Given the description of an element on the screen output the (x, y) to click on. 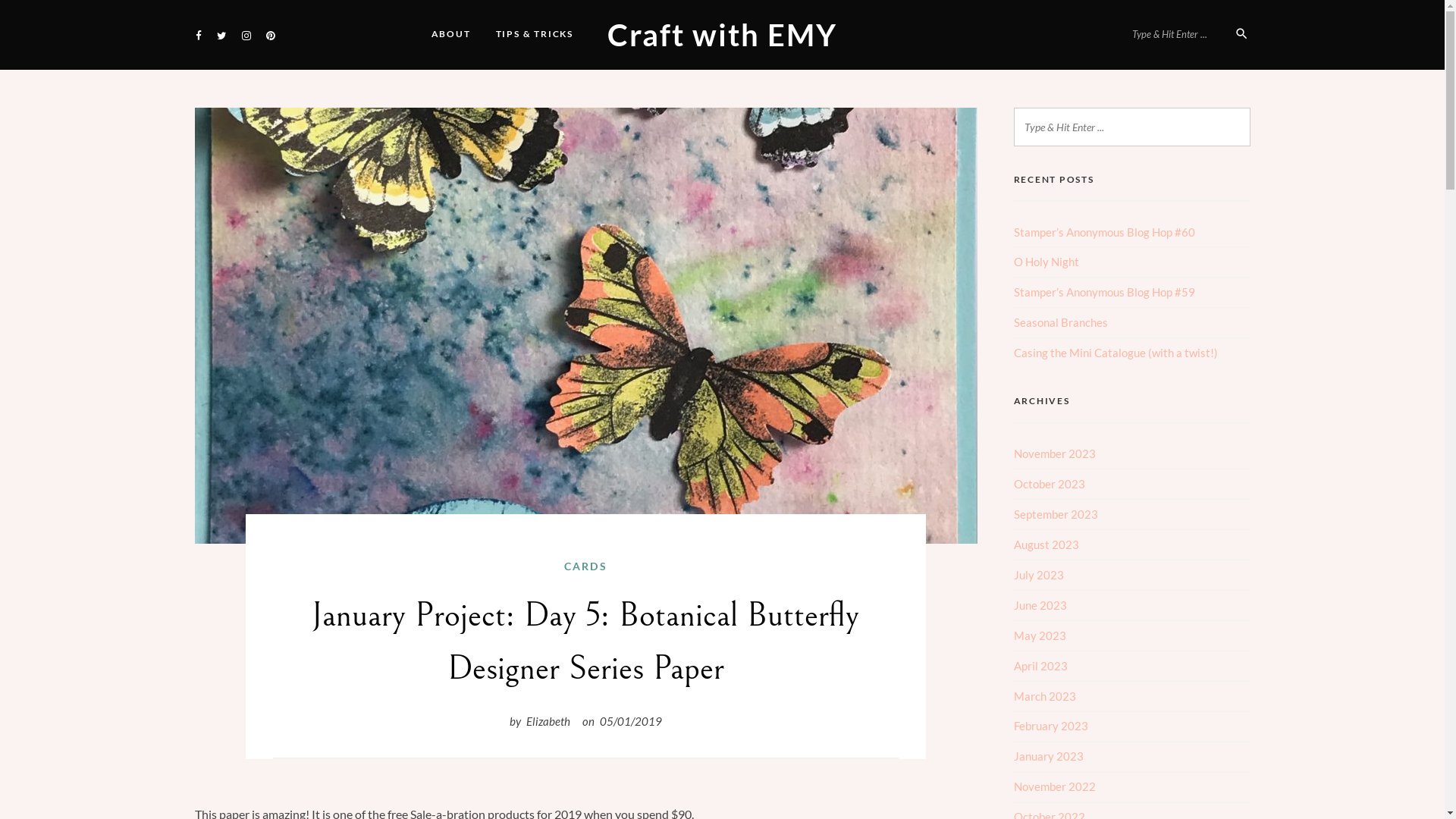
Seasonal Branches Element type: text (1060, 322)
November 2023 Element type: text (1054, 453)
05/01/2019 Element type: text (630, 721)
Elizabeth Element type: text (548, 721)
Craft with EMY Element type: text (722, 34)
ABOUT Element type: text (450, 34)
Casing the Mini Catalogue (with a twist!) Element type: text (1115, 352)
June 2023 Element type: text (1039, 604)
March 2023 Element type: text (1044, 695)
January 2023 Element type: text (1047, 755)
TIPS & TRICKS Element type: text (534, 34)
August 2023 Element type: text (1045, 544)
November 2022 Element type: text (1054, 786)
April 2023 Element type: text (1039, 665)
July 2023 Element type: text (1038, 574)
October 2023 Element type: text (1048, 483)
February 2023 Element type: text (1050, 725)
O Holy Night Element type: text (1045, 261)
CARDS Element type: text (585, 566)
September 2023 Element type: text (1055, 513)
May 2023 Element type: text (1039, 635)
